Given the description of an element on the screen output the (x, y) to click on. 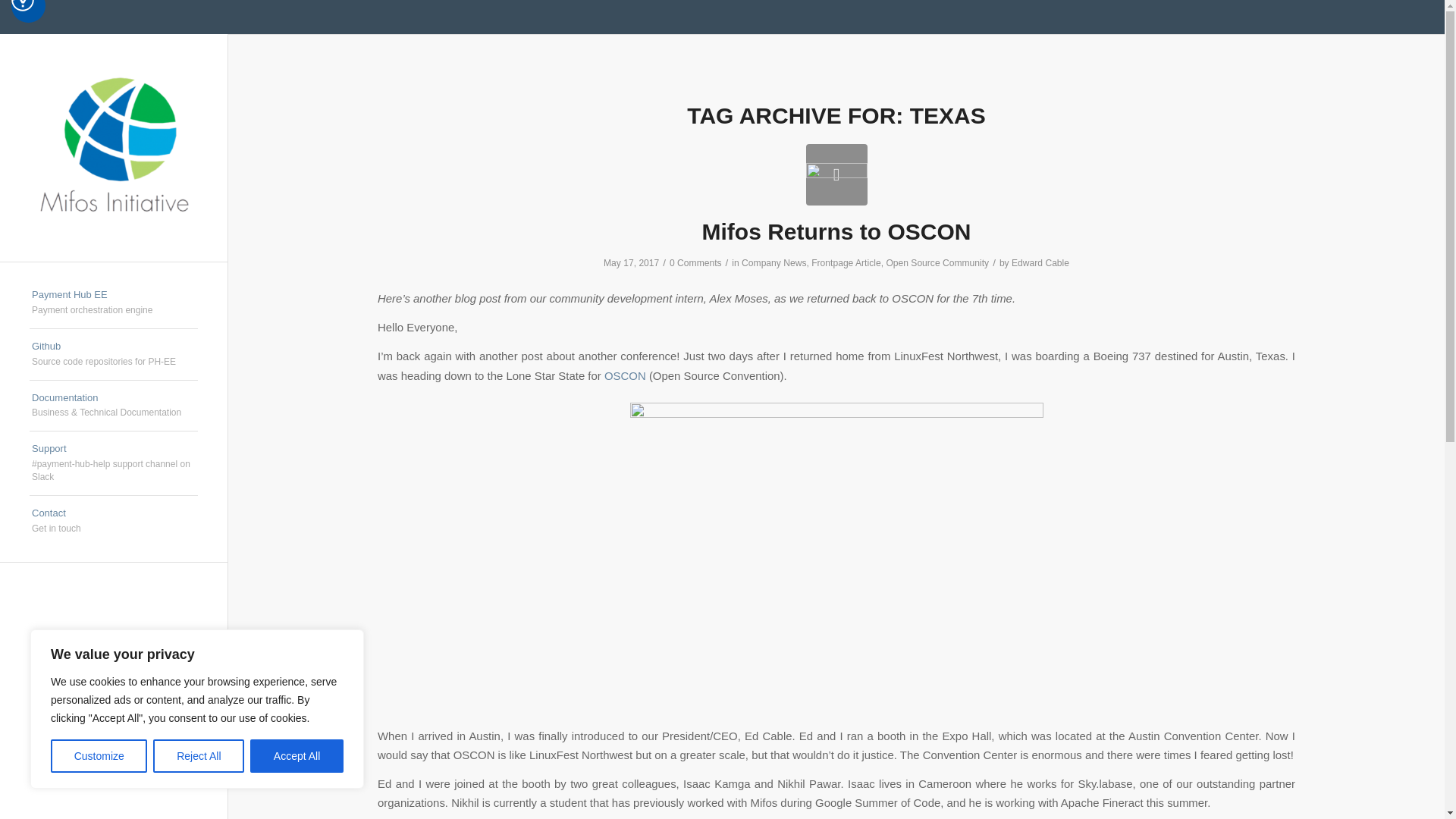
Permanent Link: Mifos Returns to OSCON (836, 231)
Company News (773, 262)
Open Source Community (113, 354)
0 Comments (113, 303)
OSCON (936, 262)
Customize (695, 262)
Reject All (625, 375)
Frontpage Article (98, 756)
